Given the description of an element on the screen output the (x, y) to click on. 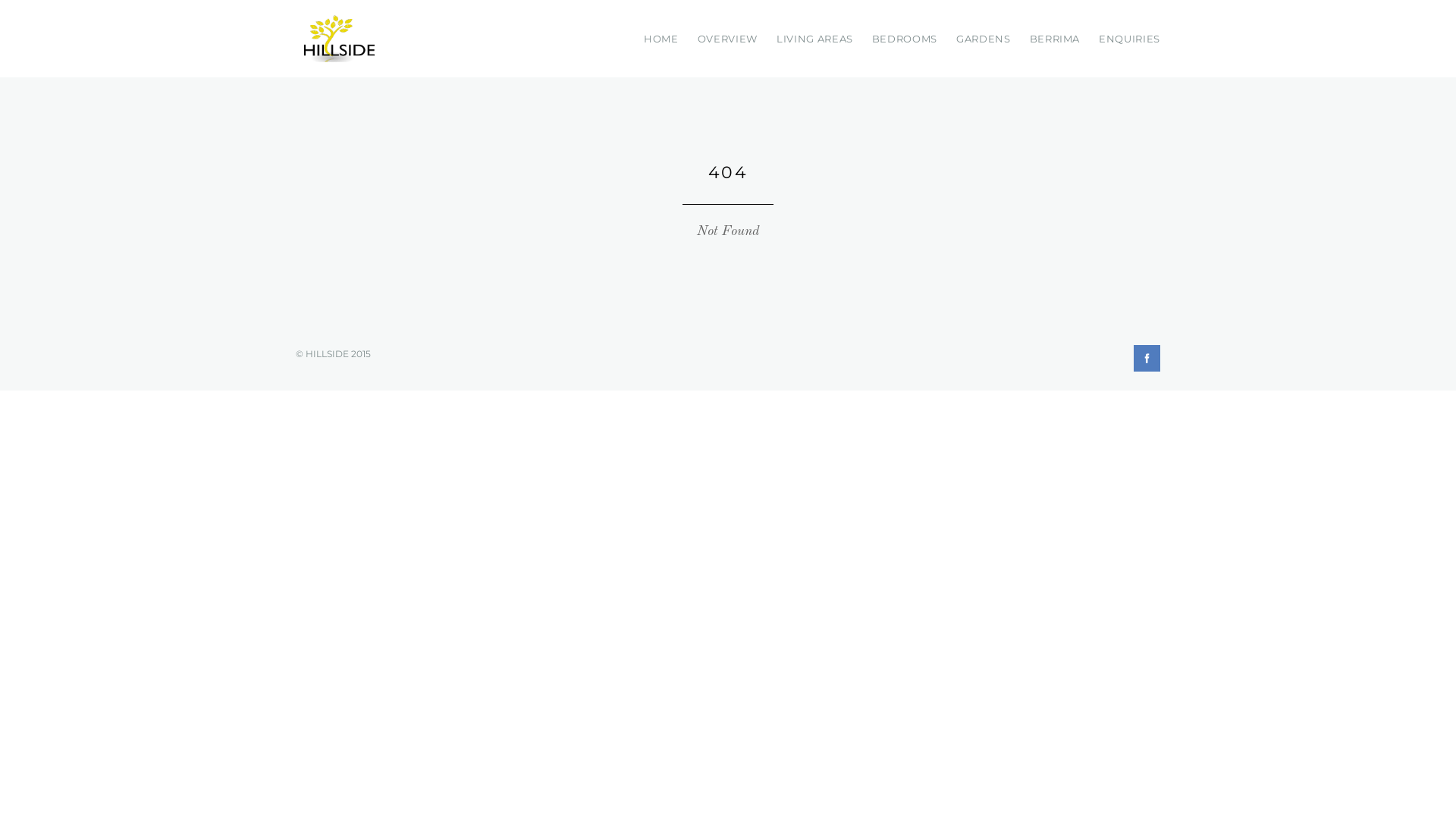
Hillside Cottage Element type: hover (337, 38)
BERRIMA Element type: text (1054, 38)
HOME Element type: text (660, 38)
LIVING AREAS Element type: text (814, 38)
BEDROOMS Element type: text (904, 38)
OVERVIEW Element type: text (727, 38)
Find us on Facebook Element type: hover (1146, 361)
ENQUIRIES Element type: text (1129, 38)
Facebook Element type: hover (1146, 358)
GARDENS Element type: text (983, 38)
